Given the description of an element on the screen output the (x, y) to click on. 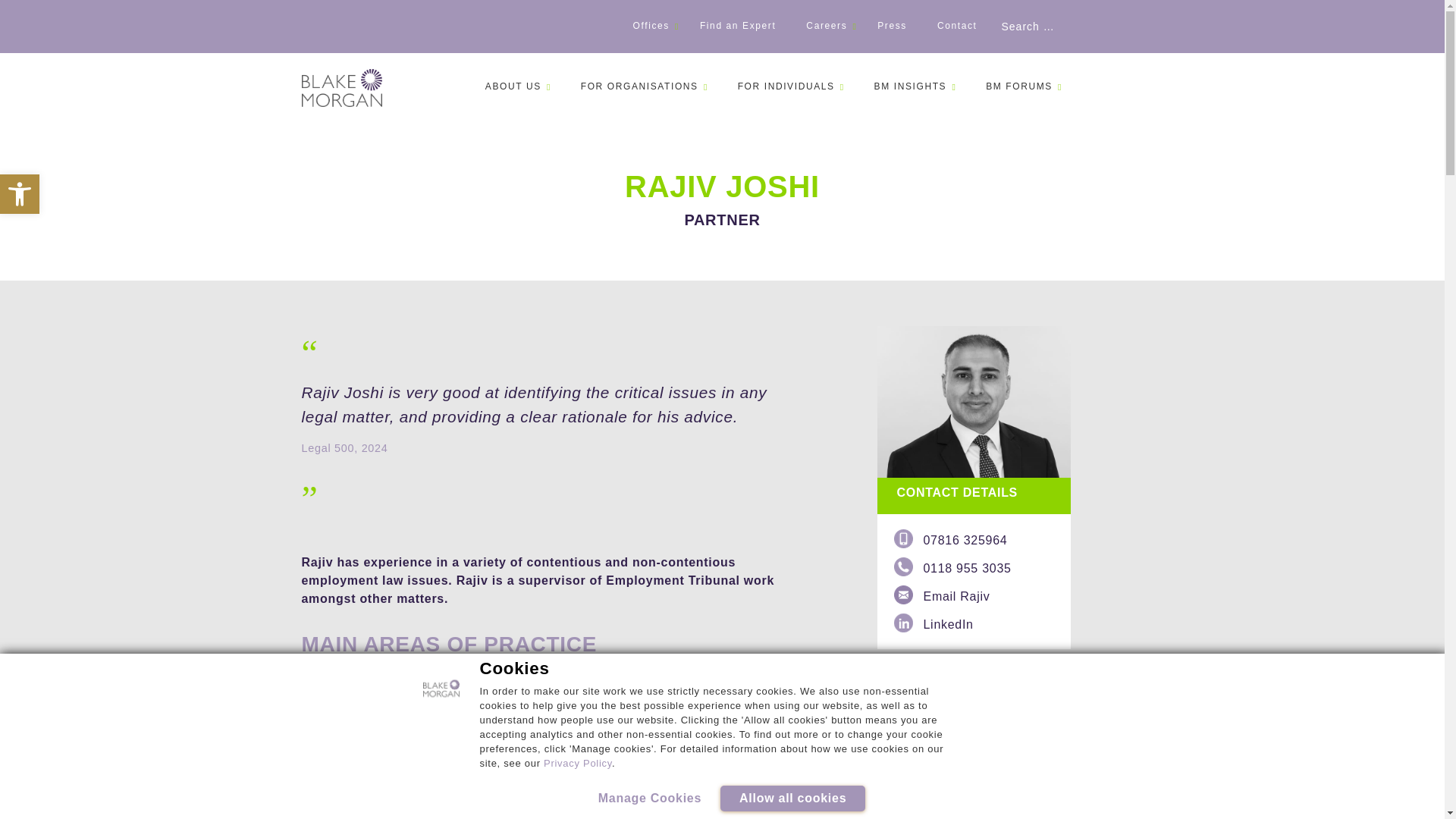
Website search (1066, 26)
Allow all cookies (792, 798)
Press (19, 193)
Find an Expert (891, 26)
Accessibility Tools (737, 26)
ABOUT US (19, 193)
Accessibility Tools (512, 86)
Contact (19, 193)
Privacy Policy (956, 26)
Manage Cookies (577, 763)
Careers (649, 797)
Offices (825, 26)
